Given the description of an element on the screen output the (x, y) to click on. 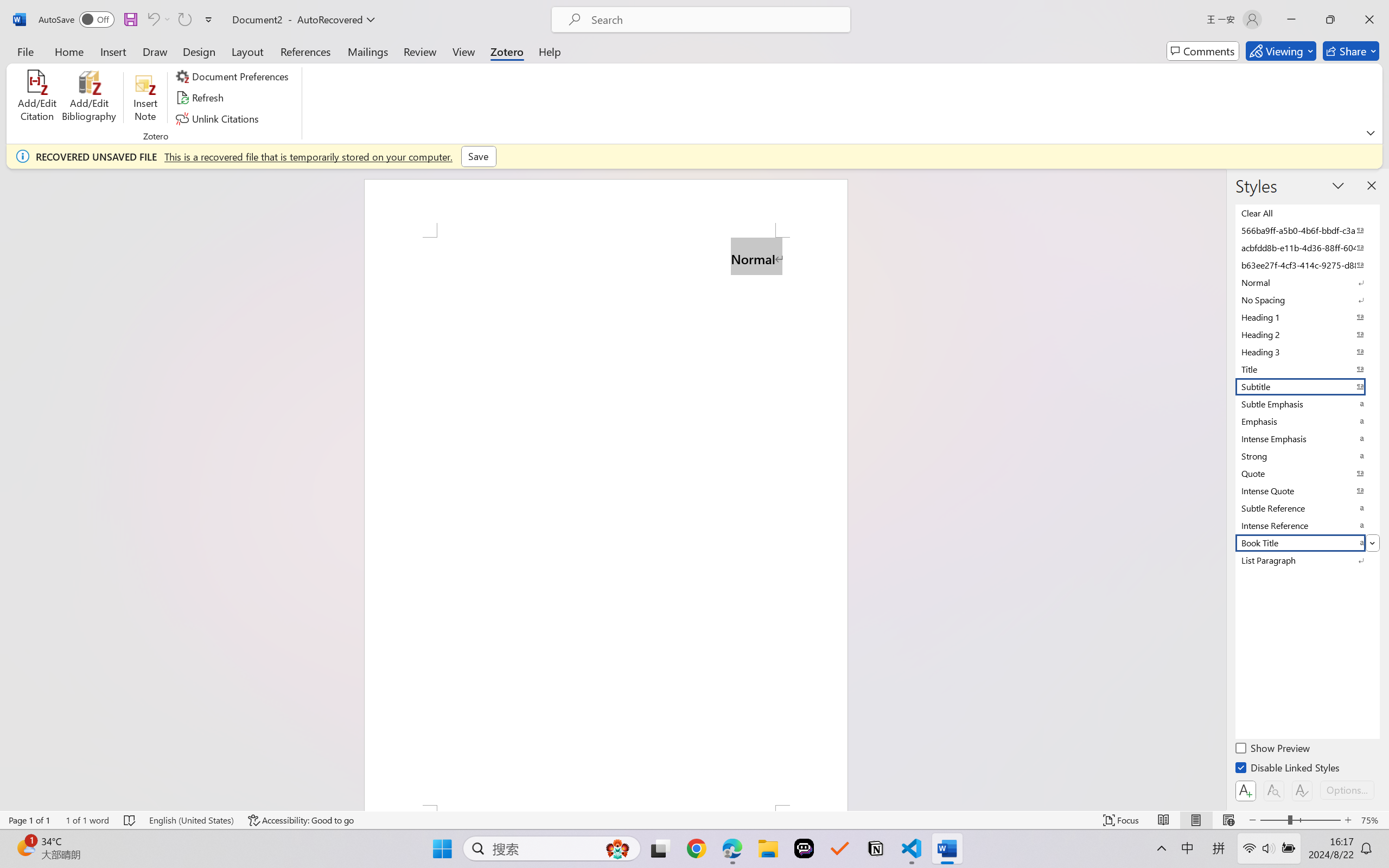
Help (549, 51)
List Paragraph (1306, 560)
Heading 1 (1306, 317)
acbfdd8b-e11b-4d36-88ff-6049b138f862 (1306, 247)
Mode (1280, 50)
Microsoft search (715, 19)
Emphasis (1306, 421)
Options... (1346, 789)
